Given the description of an element on the screen output the (x, y) to click on. 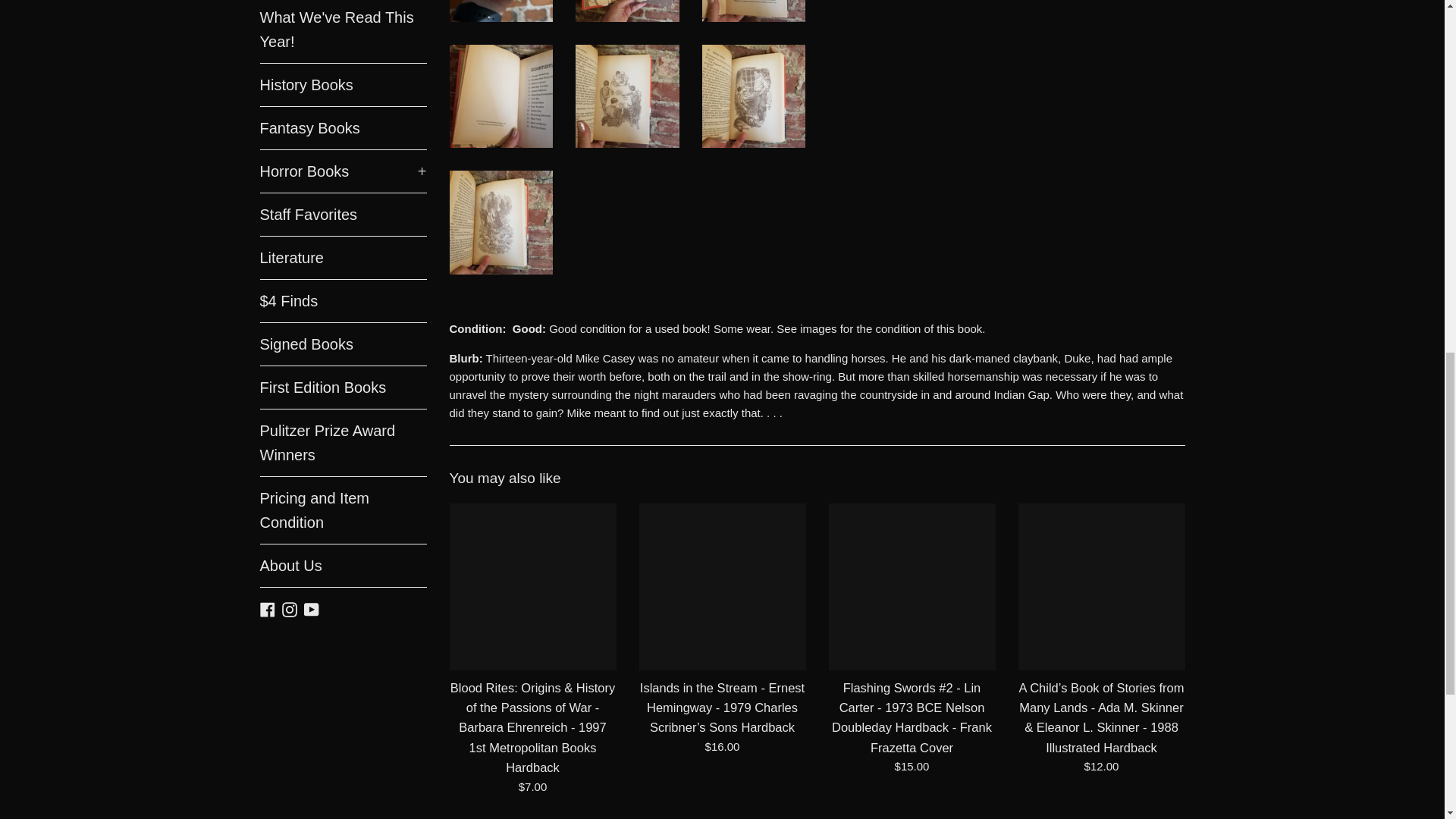
Fantasy Books (342, 128)
History Books (342, 84)
Postmarked from the Stars on Instagram (289, 607)
Signed Books (342, 343)
Literature (342, 257)
Postmarked from the Stars on YouTube (311, 607)
Postmarked from the Stars on Facebook (267, 607)
What We've Read This Year! (342, 31)
Staff Favorites (342, 214)
